Given the description of an element on the screen output the (x, y) to click on. 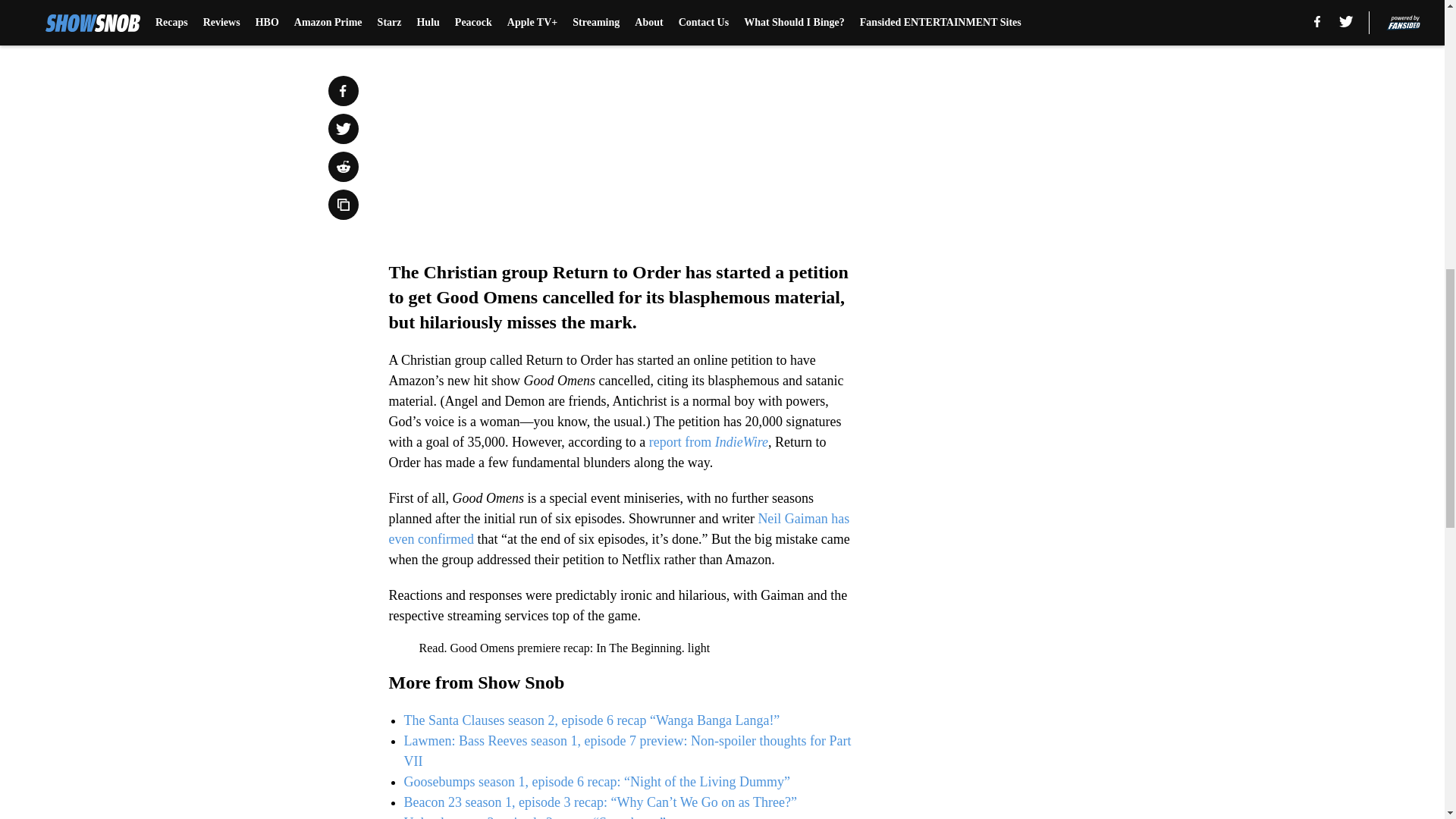
report from IndieWire (708, 441)
Neil Gaiman has even confirmed (618, 529)
